Given the description of an element on the screen output the (x, y) to click on. 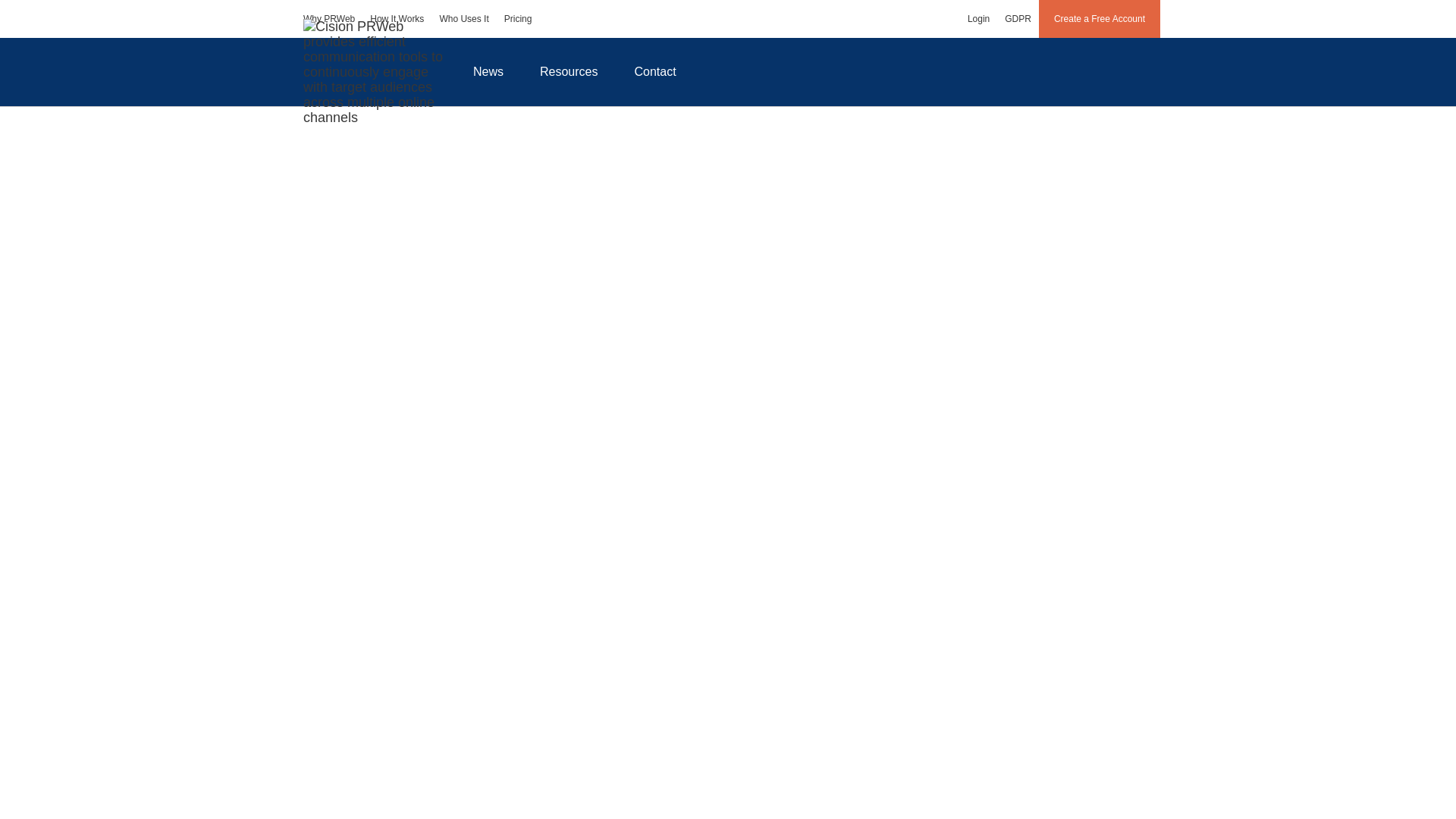
How It Works (396, 18)
Login (978, 18)
Pricing (518, 18)
Who Uses It (463, 18)
News (487, 71)
Contact (654, 71)
Resources (568, 71)
Create a Free Account (1099, 18)
GDPR (1018, 18)
Why PRWeb (328, 18)
